Given the description of an element on the screen output the (x, y) to click on. 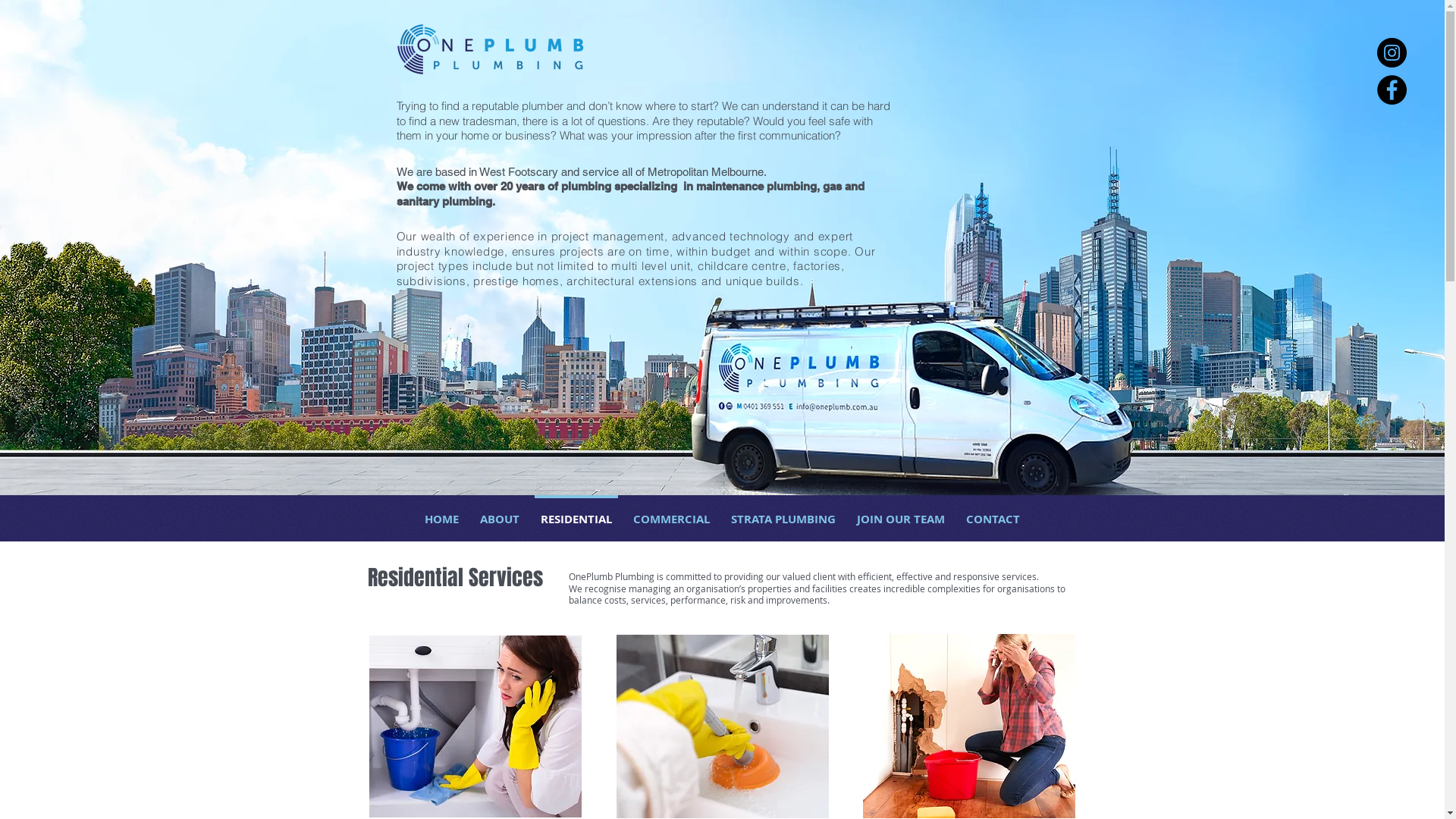
JOIN OUR TEAM Element type: text (900, 512)
STRATA PLUMBING Element type: text (783, 512)
ABOUT Element type: text (499, 512)
HOME Element type: text (441, 512)
RESIDENTIAL Element type: text (576, 512)
CONTACT Element type: text (992, 512)
COMMERCIAL Element type: text (671, 512)
